Given the description of an element on the screen output the (x, y) to click on. 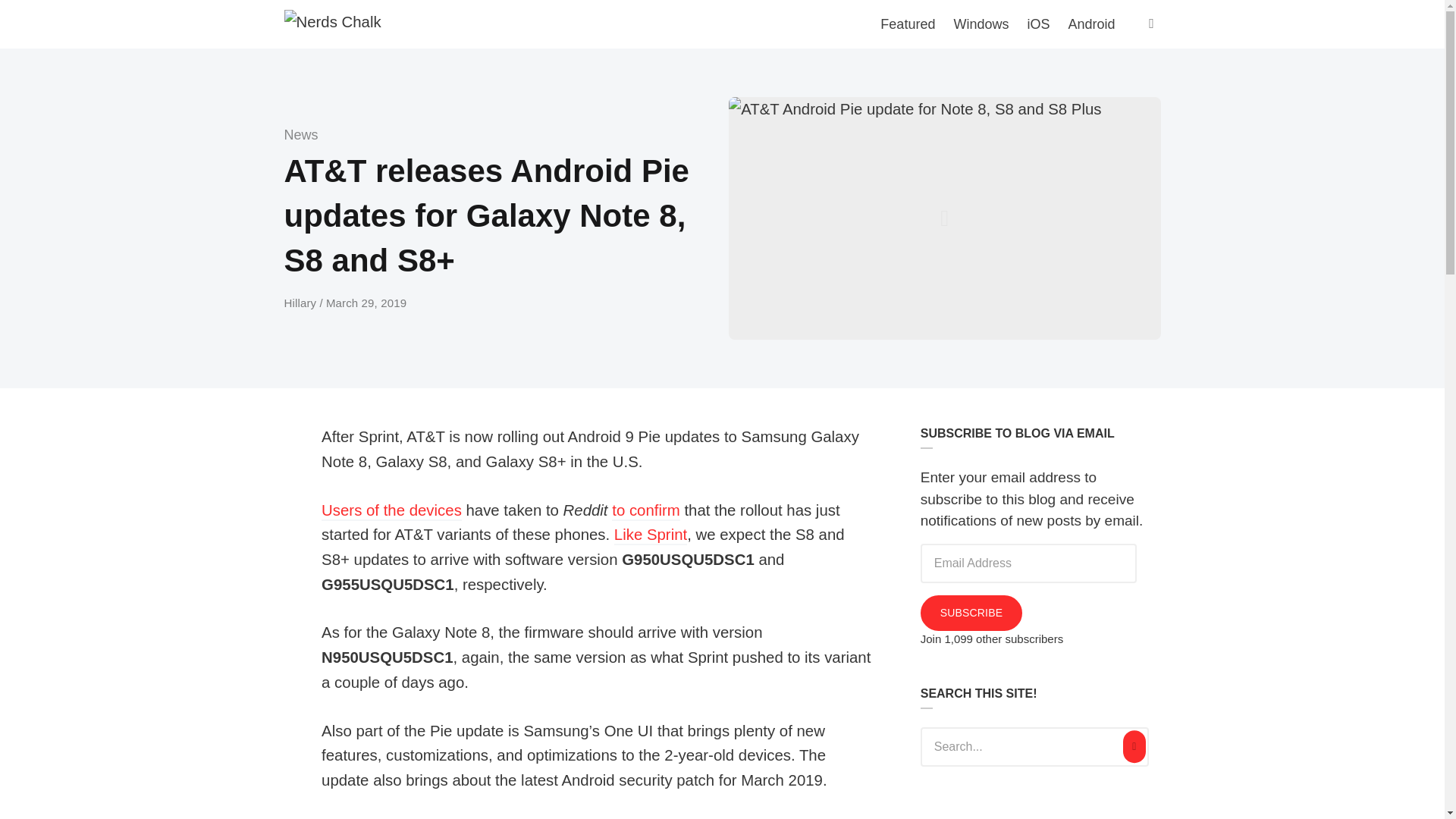
Featured (906, 24)
Like Sprint (650, 535)
Users of the devices (391, 511)
iOS (1037, 24)
Windows (980, 24)
Android (1091, 24)
SUBSCRIBE (971, 613)
Hillary (300, 302)
to confirm (645, 511)
News (300, 134)
